Given the description of an element on the screen output the (x, y) to click on. 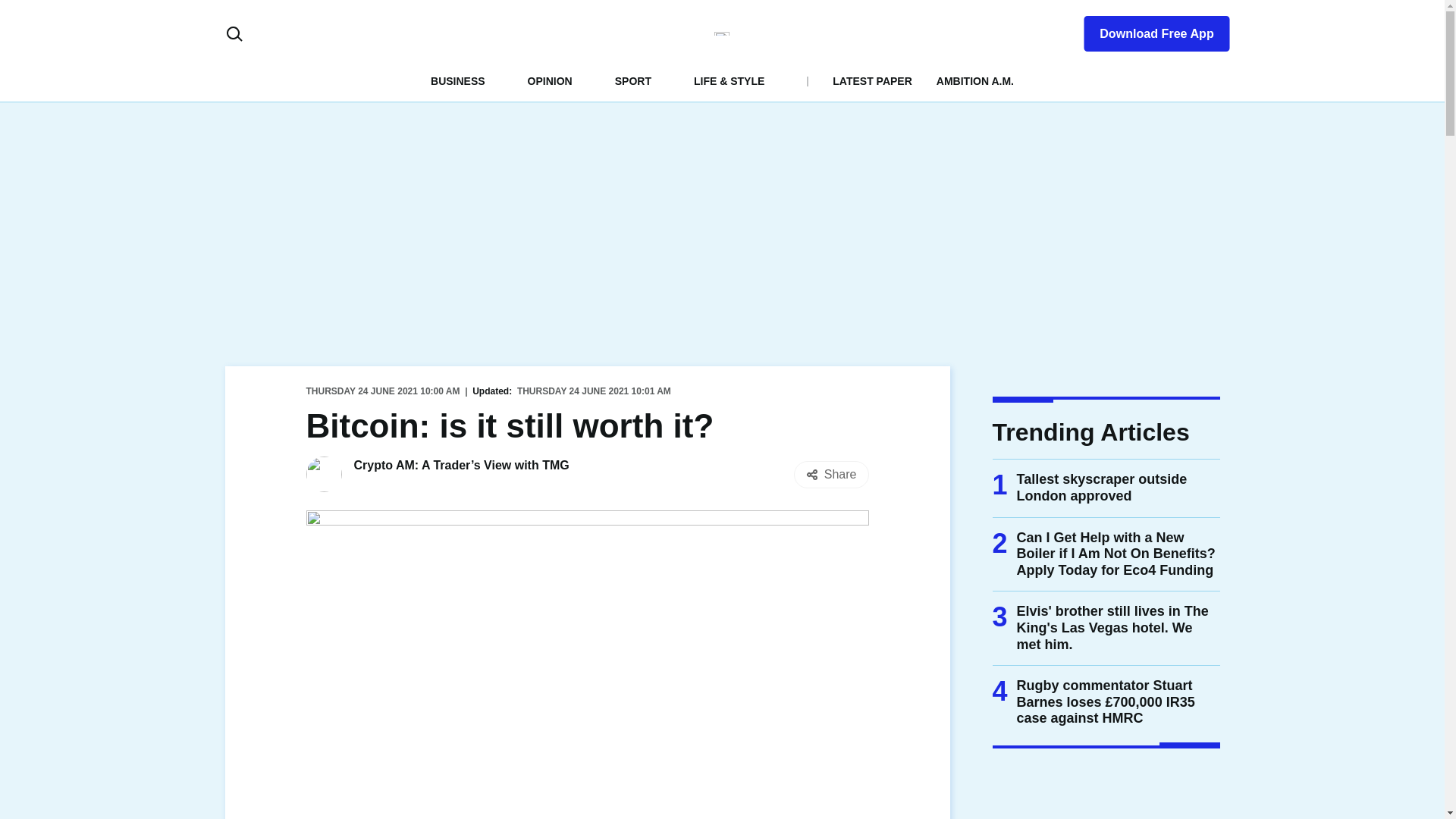
OPINION (549, 80)
SPORT (632, 80)
BUSINESS (457, 80)
CityAM (721, 33)
Download Free App (1146, 30)
